Given the description of an element on the screen output the (x, y) to click on. 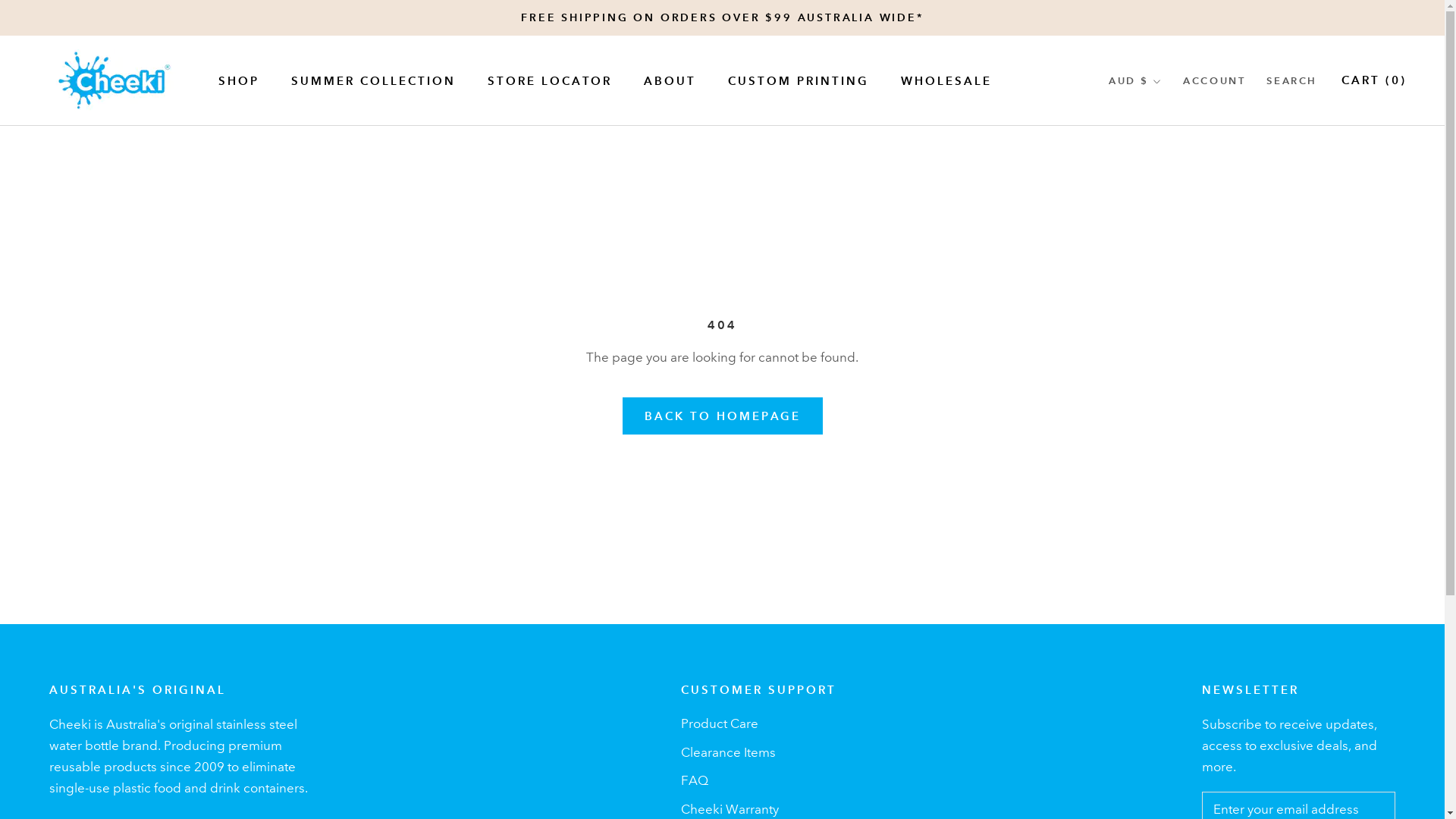
CNY Element type: text (1162, 617)
CRC Element type: text (1162, 640)
BSD Element type: text (1162, 474)
DKK Element type: text (1162, 736)
CDF Element type: text (1162, 569)
CHF Element type: text (1162, 593)
BZD Element type: text (1162, 521)
AZN Element type: text (1162, 283)
SUMMER COLLECTION
SUMMER COLLECTION Element type: text (373, 80)
Clearance Items Element type: text (758, 752)
AUD Element type: text (1162, 235)
BBD Element type: text (1162, 331)
BDT Element type: text (1162, 355)
SHOP Element type: text (238, 80)
BAM Element type: text (1162, 307)
AED Element type: text (1162, 116)
CVE Element type: text (1162, 665)
ABOUT Element type: text (669, 80)
Product Care Element type: text (758, 724)
SEARCH Element type: text (1291, 81)
WHOLESALE Element type: text (945, 80)
BOB Element type: text (1162, 450)
ALL Element type: text (1162, 164)
FAQ Element type: text (758, 780)
CUSTOM PRINTING
CUSTOM PRINTING Element type: text (798, 80)
BGN Element type: text (1162, 379)
CZK Element type: text (1162, 688)
ANG Element type: text (1162, 212)
CAD Element type: text (1162, 546)
DOP Element type: text (1162, 760)
ACCOUNT Element type: text (1214, 81)
AUD $ Element type: text (1134, 81)
STORE LOCATOR
STORE LOCATOR Element type: text (549, 80)
BIF Element type: text (1162, 402)
AFN Element type: text (1162, 140)
AWG Element type: text (1162, 259)
DJF Element type: text (1162, 712)
DZD Element type: text (1162, 784)
BWP Element type: text (1162, 498)
BACK TO HOMEPAGE Element type: text (721, 415)
AMD Element type: text (1162, 188)
BND Element type: text (1162, 427)
CART (0) Element type: text (1373, 79)
